Given the description of an element on the screen output the (x, y) to click on. 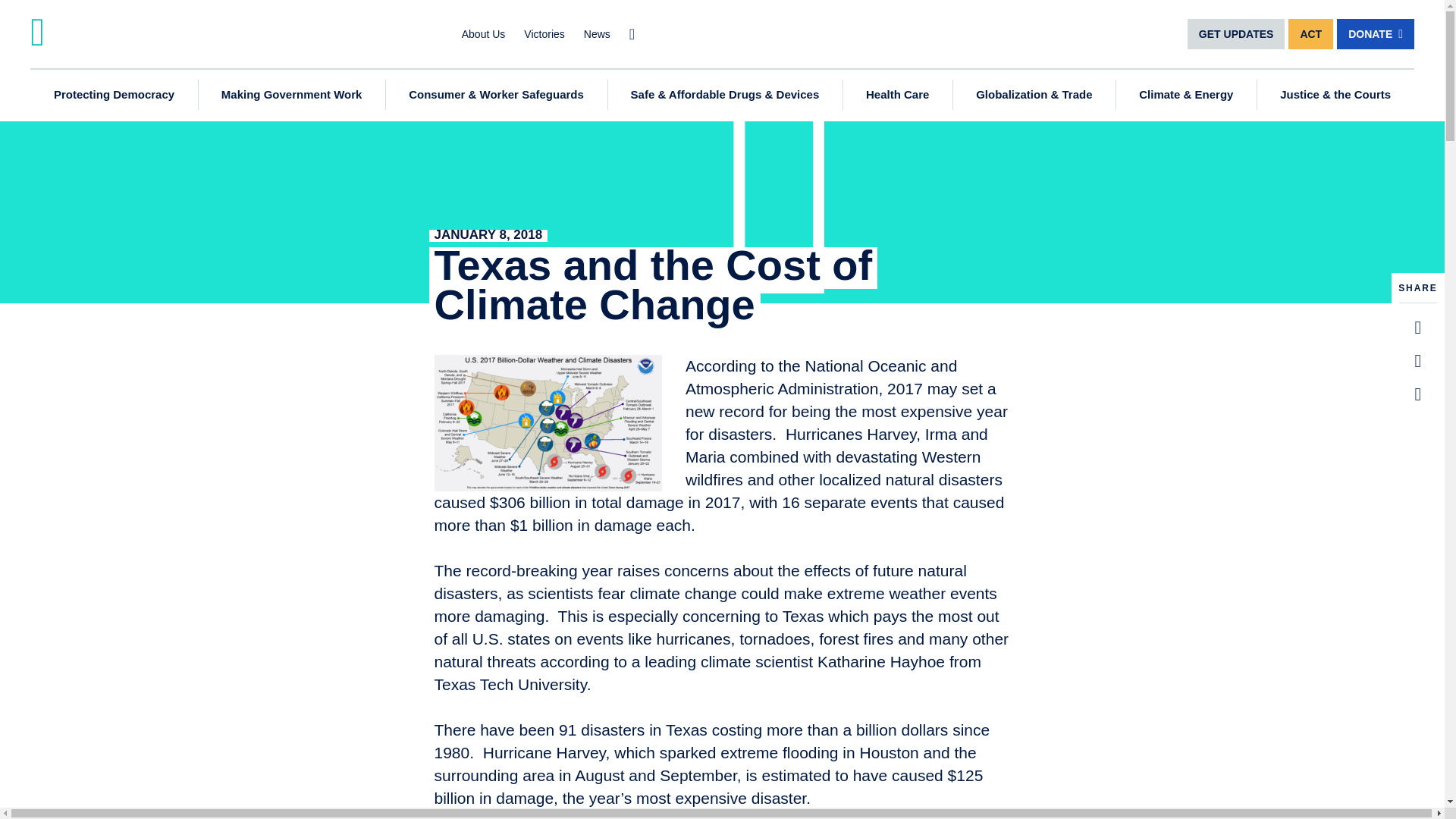
Health Care (897, 94)
Protecting Democracy (114, 94)
DONATE (1374, 33)
Victories (544, 33)
ACT (1310, 33)
About Us (483, 33)
Making Government Work (291, 94)
GET UPDATES (1236, 33)
News (596, 33)
